Given the description of an element on the screen output the (x, y) to click on. 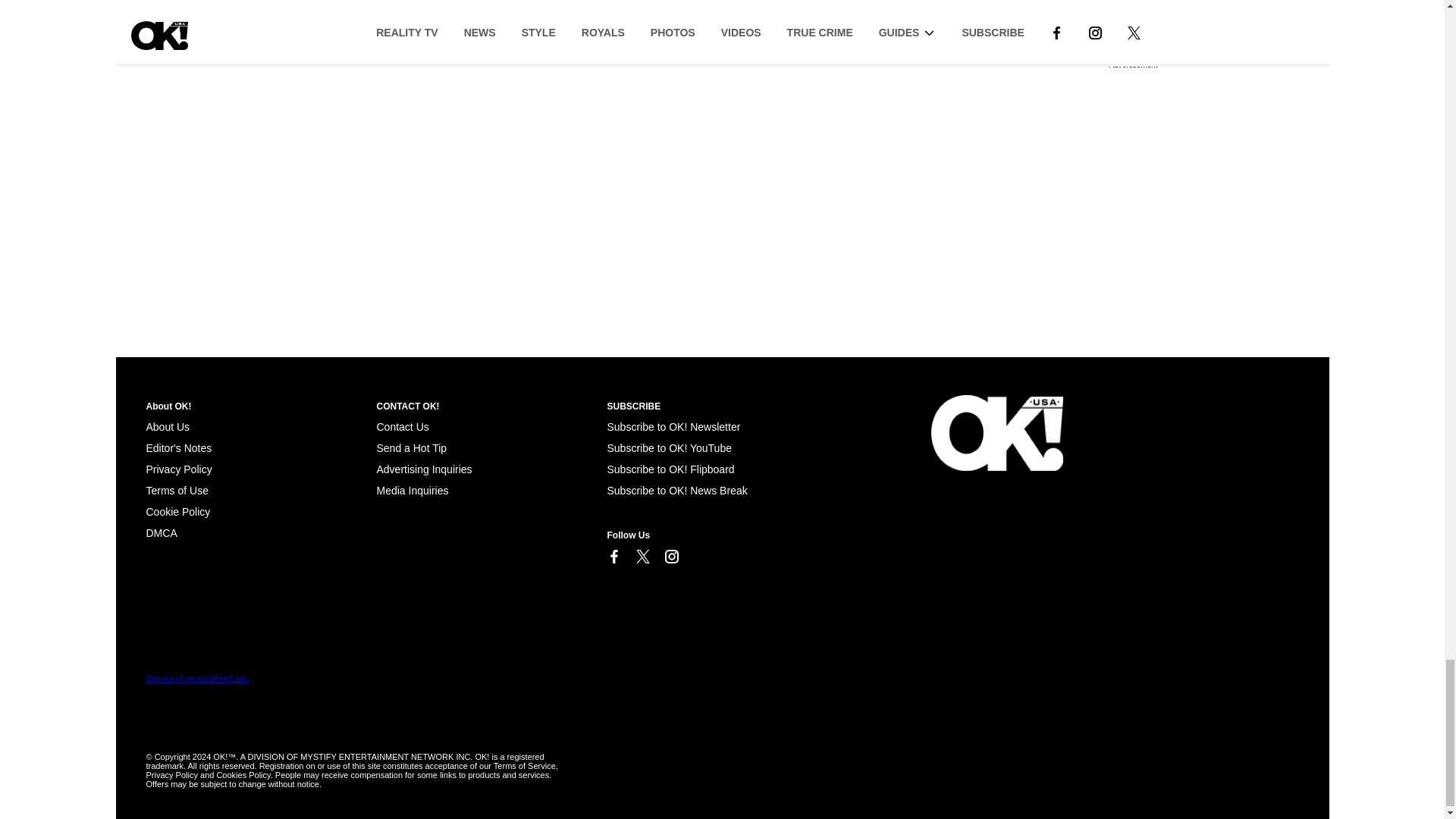
Editor's Notes (178, 448)
Contact Us (401, 426)
About Us (167, 426)
Link to X (641, 556)
Cookie Policy (160, 532)
Terms of Use (176, 490)
Privacy Policy (178, 469)
Link to Facebook (613, 556)
Link to Instagram (670, 556)
Cookie Policy (177, 511)
